Given the description of an element on the screen output the (x, y) to click on. 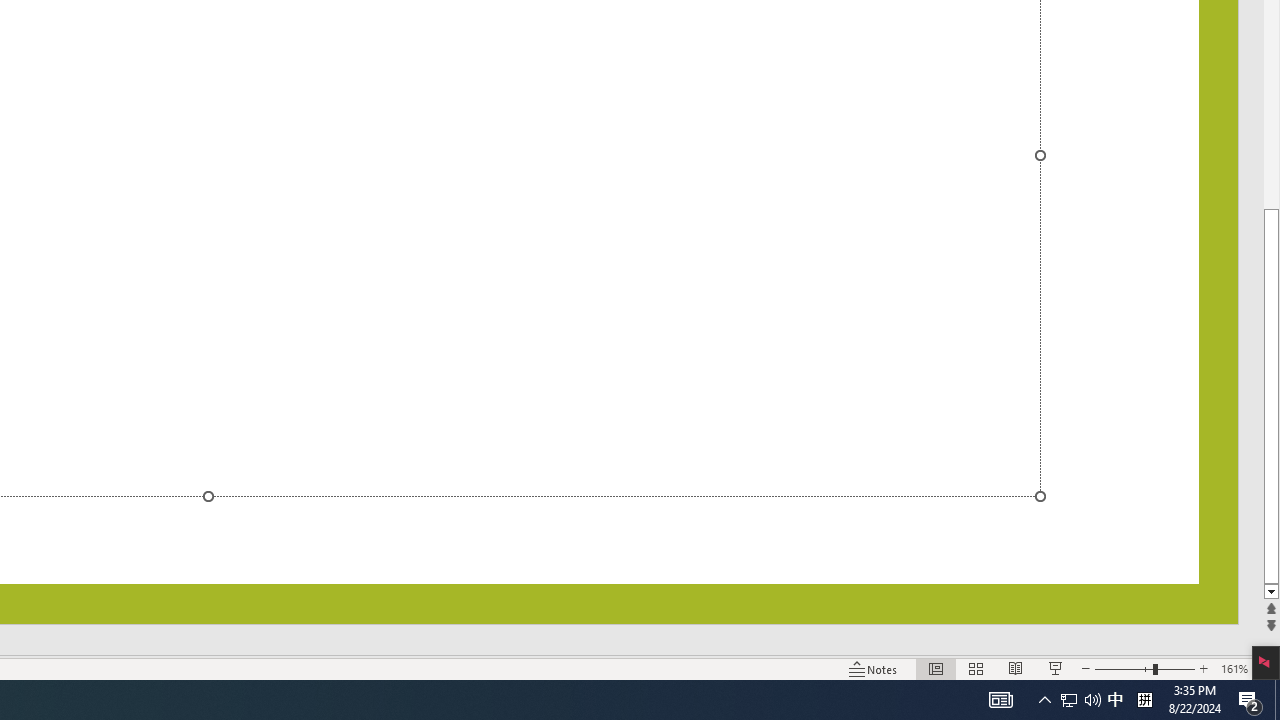
Notes  (874, 668)
